Given the description of an element on the screen output the (x, y) to click on. 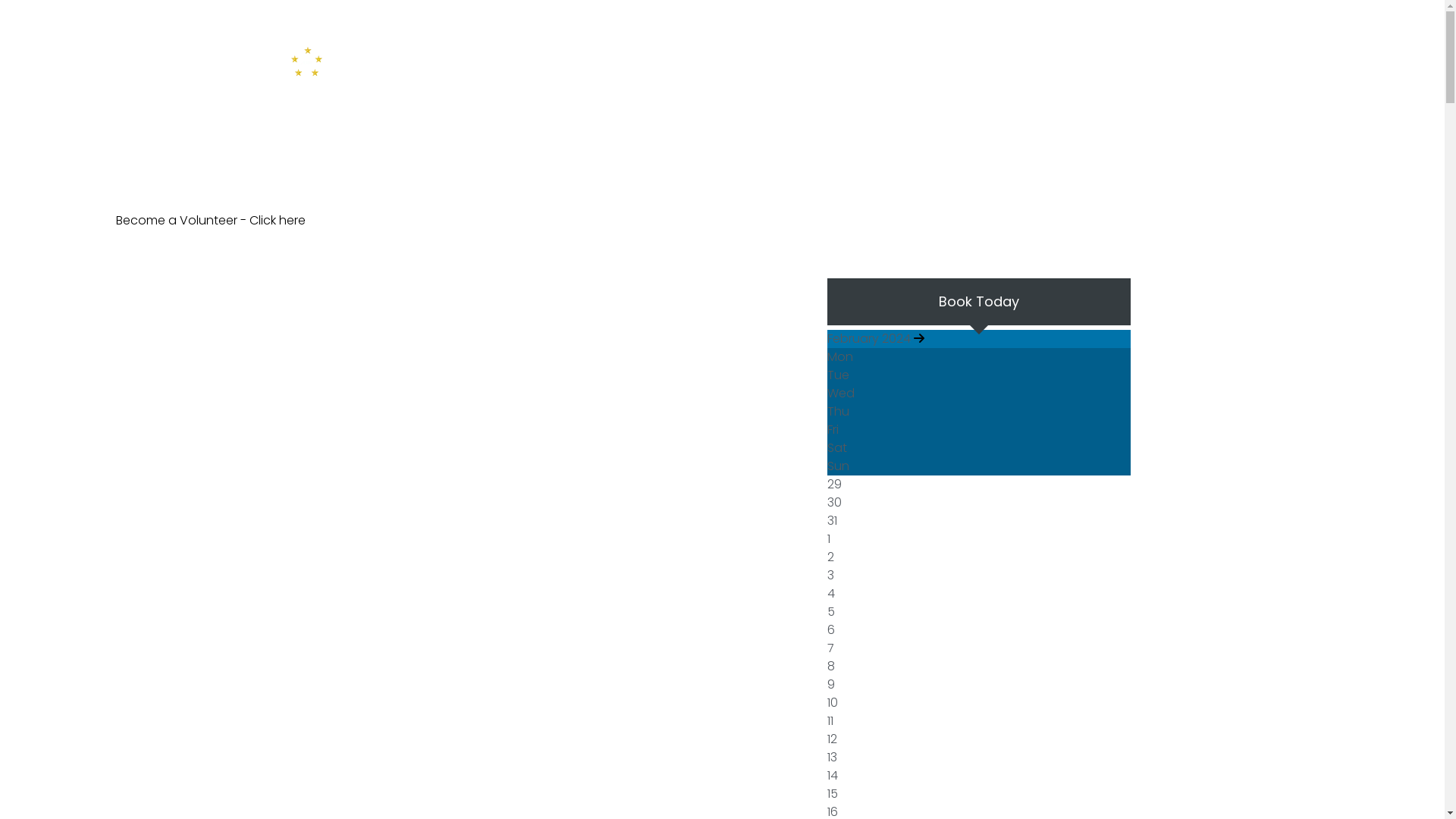
Become a Volunteer - Click here Element type: text (209, 220)
Support Us Element type: text (720, 61)
Contact Element type: text (978, 61)
Home Element type: text (431, 61)
Gallery Element type: text (1049, 61)
Level 8 MacArthur Chambers 201 Edward Street, Brisbane Element type: text (874, 12)
Visiting Element type: text (641, 61)
Booking Element type: text (1119, 61)
(07) 3211 7052 Element type: text (1061, 12)
Foundation Element type: text (895, 61)
Resources Element type: text (807, 61)
Exhibits Element type: text (574, 61)
About Us Element type: text (500, 61)
